Given the description of an element on the screen output the (x, y) to click on. 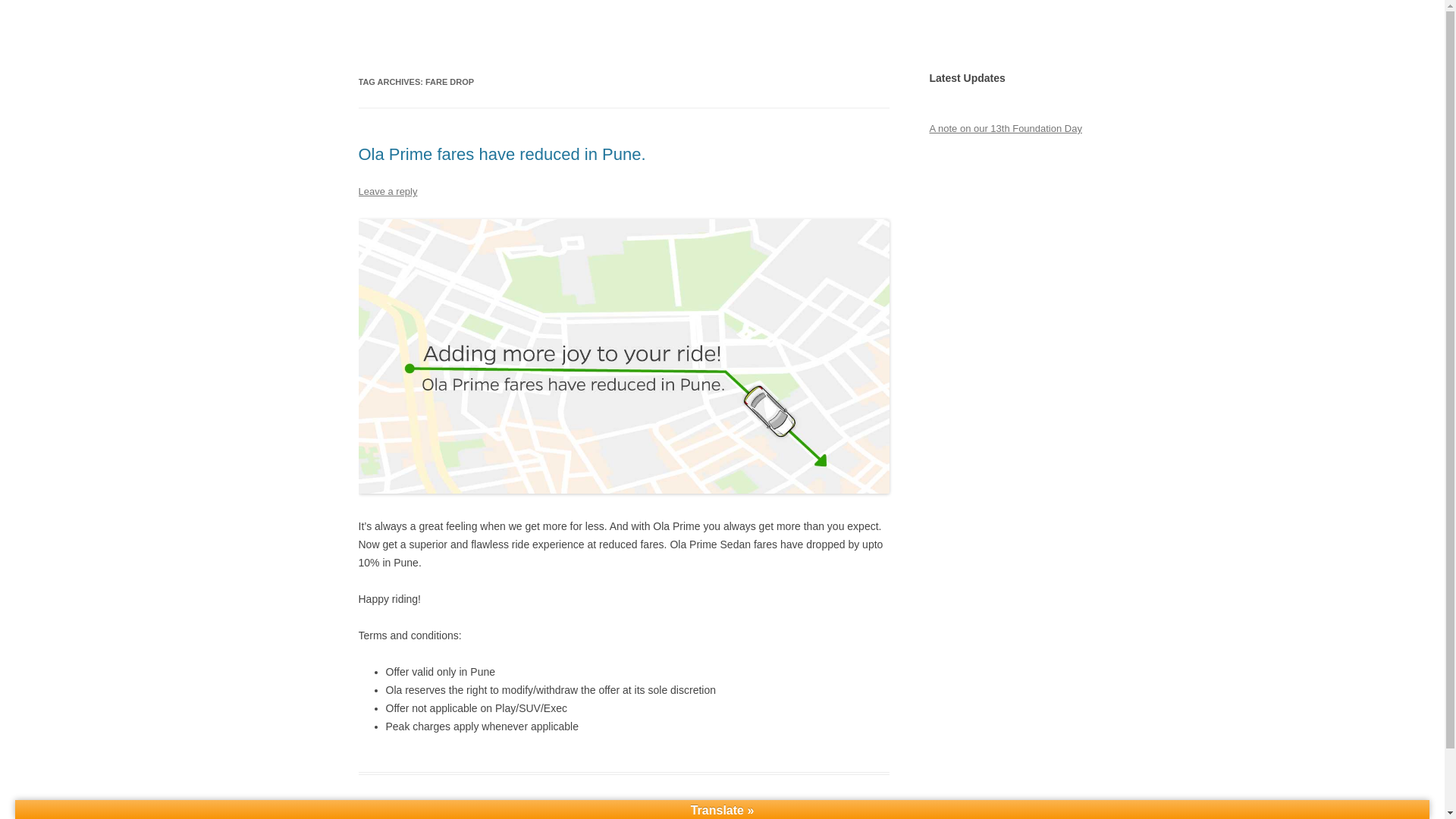
Olacabs Blogs (426, 36)
Ola Prime fares have reduced in Pune. (501, 153)
Leave a reply (387, 191)
A note on our 13th Foundation Day (1004, 128)
